Given the description of an element on the screen output the (x, y) to click on. 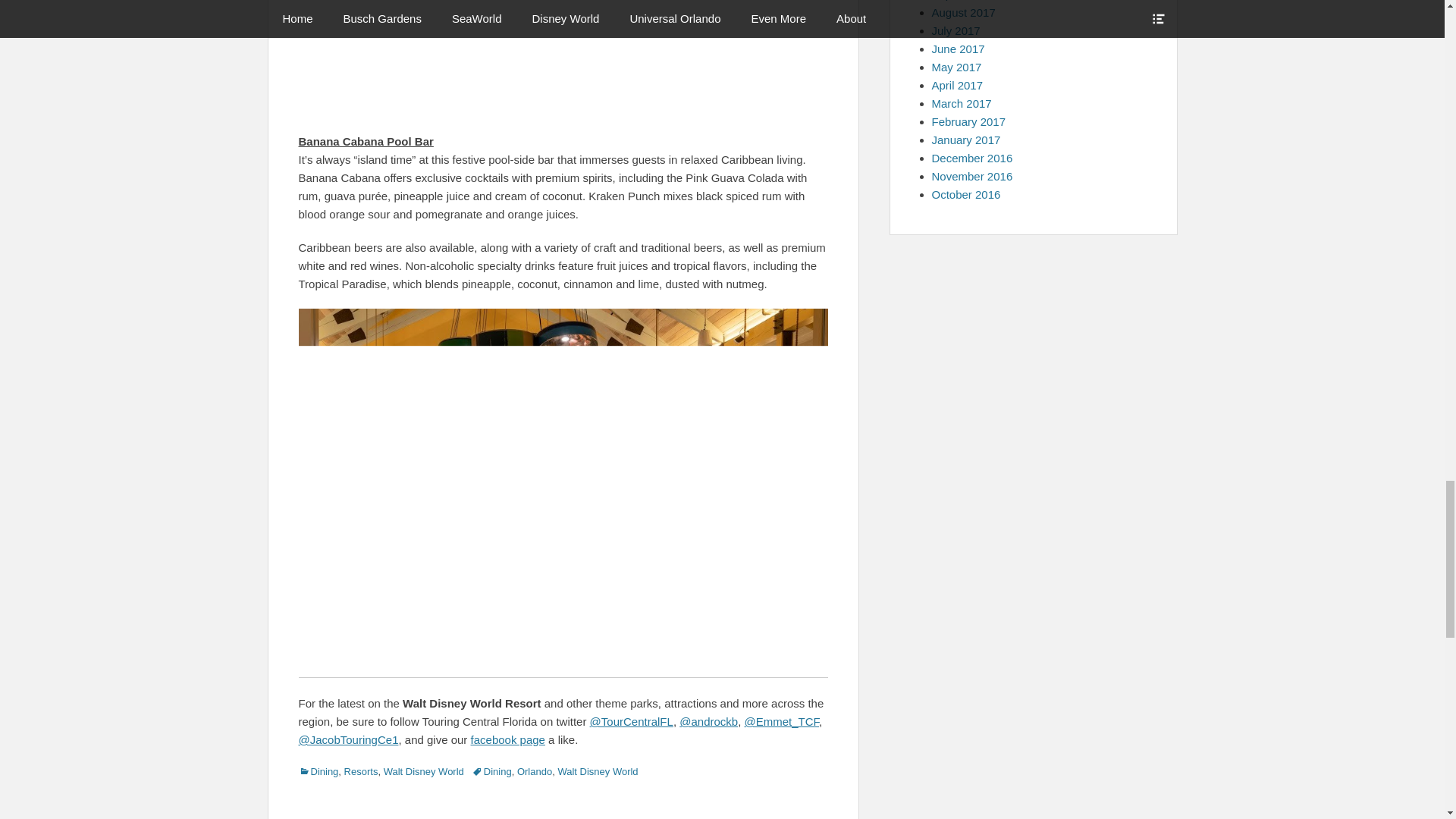
Dining (491, 771)
Walt Disney World (424, 771)
Dining (318, 771)
Resorts (360, 771)
facebook page (507, 739)
